Given the description of an element on the screen output the (x, y) to click on. 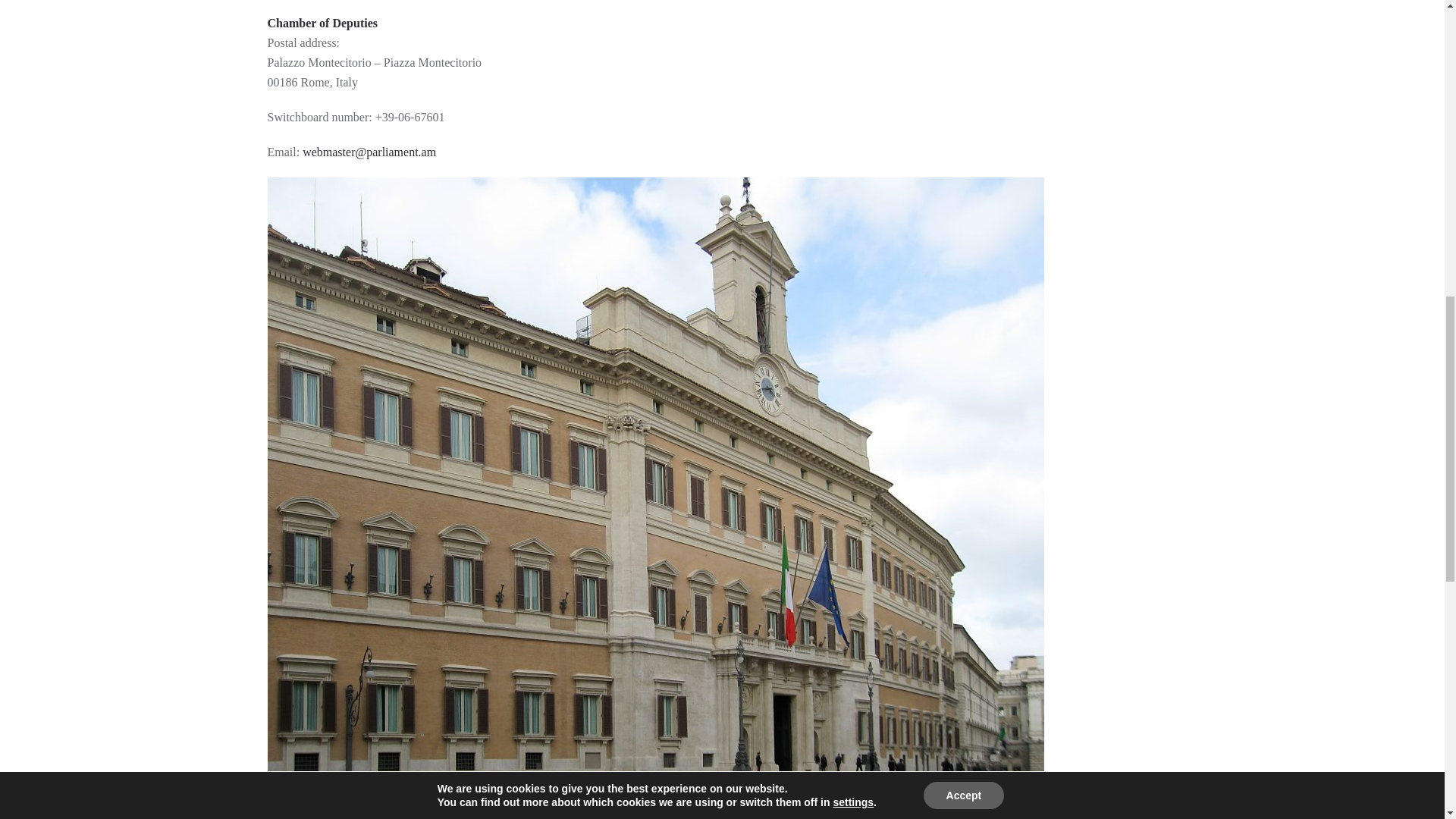
Chamber of Deputies (321, 22)
